Given the description of an element on the screen output the (x, y) to click on. 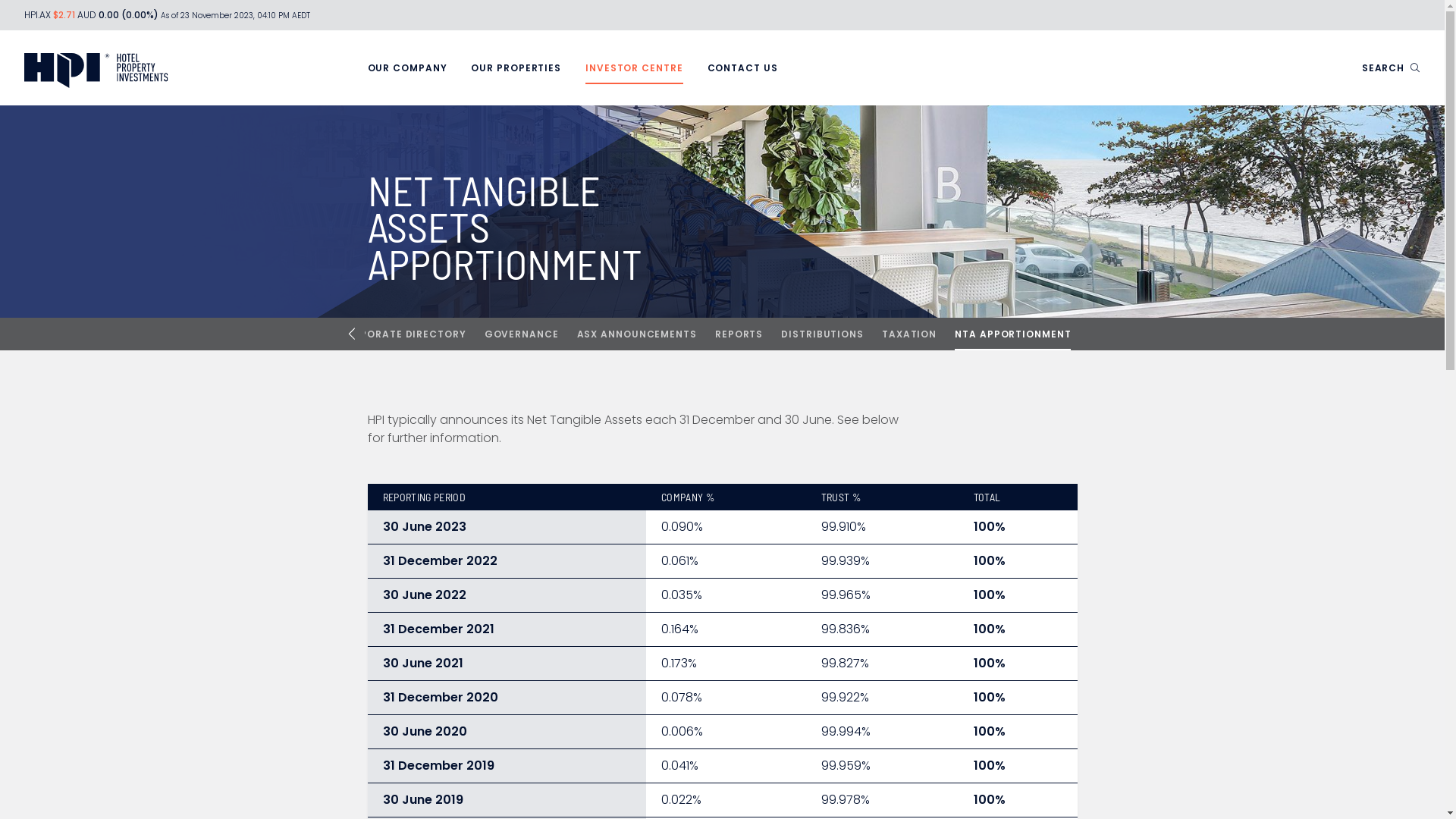
OUR COMPANY Element type: text (406, 67)
OUR PROPERTIES Element type: text (515, 67)
GOVERNANCE Element type: text (521, 332)
SEARCH Element type: text (1390, 67)
CORPORATE DIRECTORY Element type: text (401, 332)
CONTACT US Element type: text (742, 67)
INVESTOR CENTRE Element type: text (634, 67)
TAXATION Element type: text (908, 332)
ASX ANNOUNCEMENTS Element type: text (636, 332)
DISTRIBUTIONS Element type: text (822, 332)
REPORTS Element type: text (738, 332)
NTA APPORTIONMENT Element type: text (1012, 332)
